Given the description of an element on the screen output the (x, y) to click on. 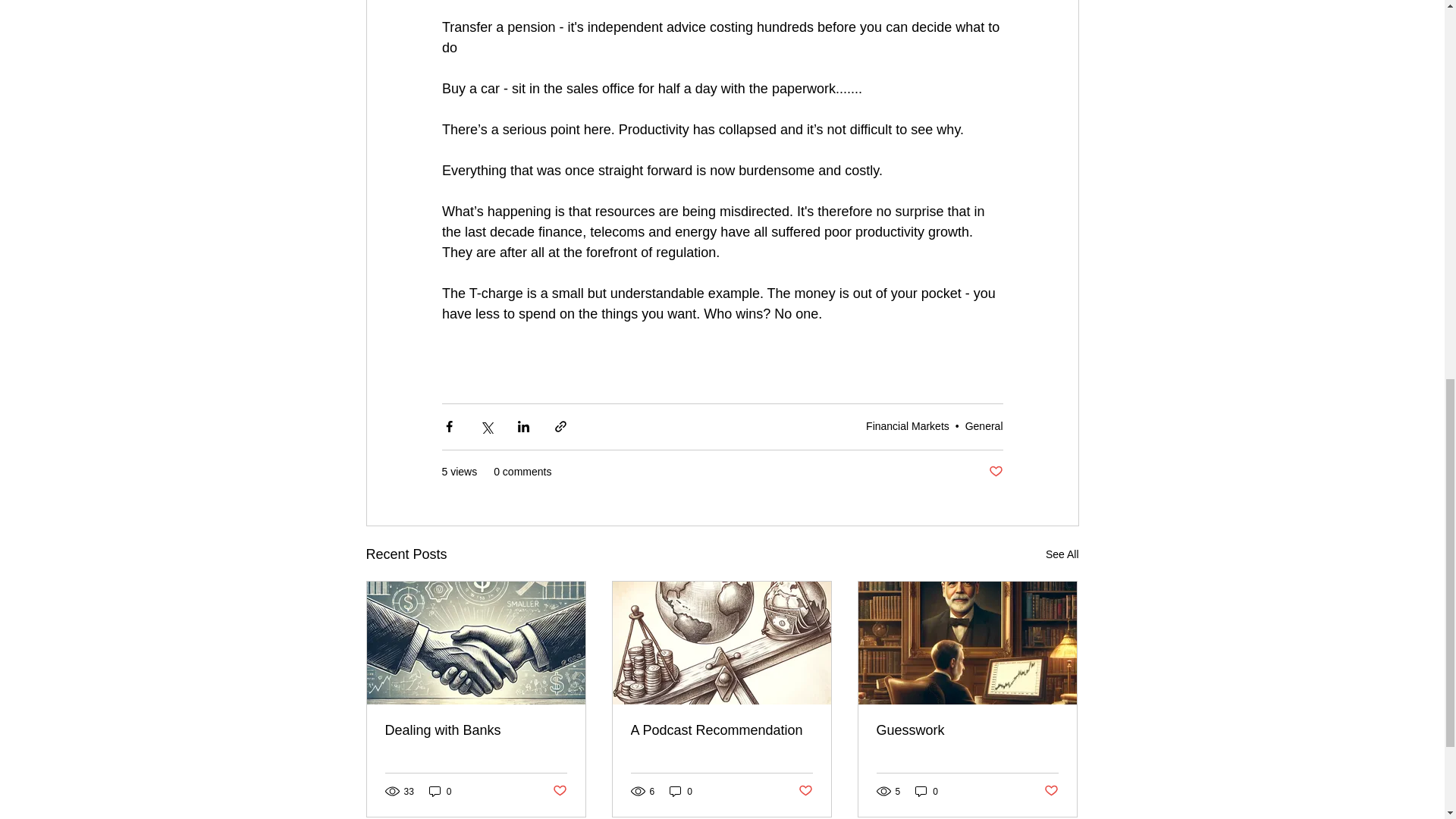
Post not marked as liked (995, 471)
See All (1061, 553)
General (984, 426)
Dealing with Banks (476, 729)
Financial Markets (907, 426)
